Given the description of an element on the screen output the (x, y) to click on. 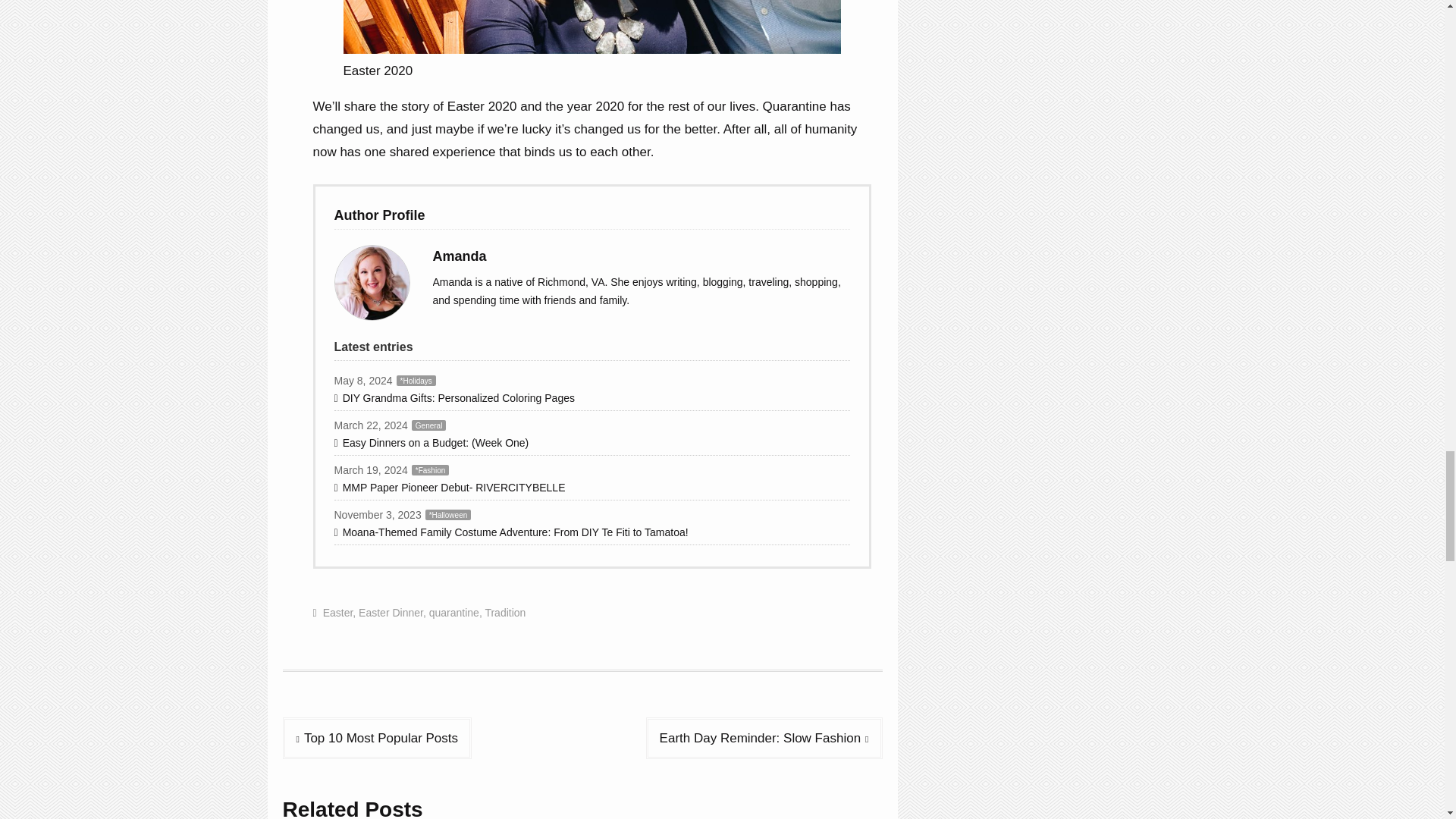
quarantine (454, 612)
DIY Grandma Gifts: Personalized Coloring Pages (590, 398)
MMP Paper Pioneer Debut- RIVERCITYBELLE (590, 487)
General (429, 425)
Easter Dinner (390, 612)
Easter (338, 612)
Top 10 Most Popular Posts (376, 738)
Tradition (504, 612)
